Given the description of an element on the screen output the (x, y) to click on. 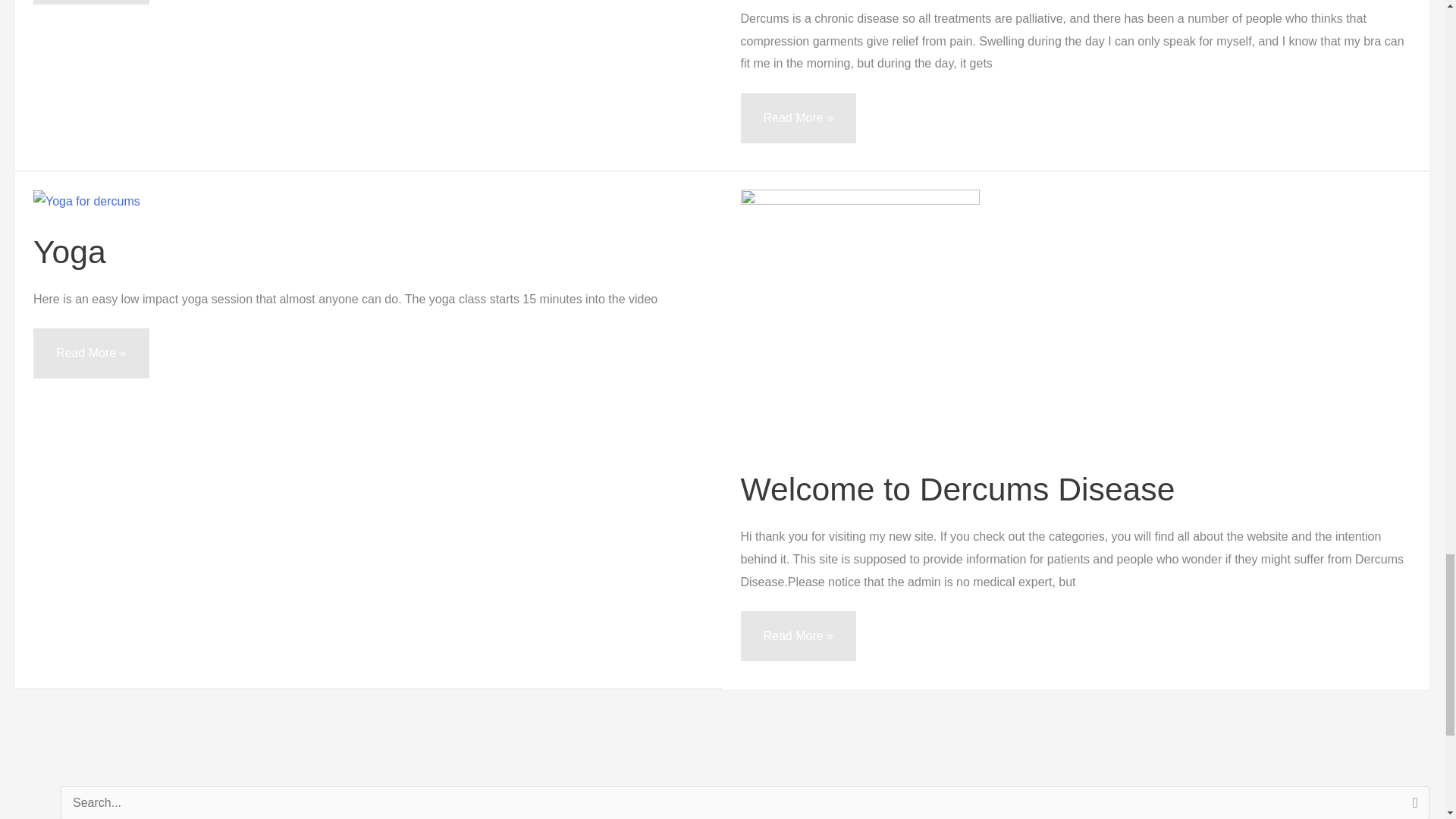
Welcome to Dercums Disease (956, 488)
Search (1411, 802)
Search (1411, 802)
Yoga (69, 251)
Search (1411, 802)
